Given the description of an element on the screen output the (x, y) to click on. 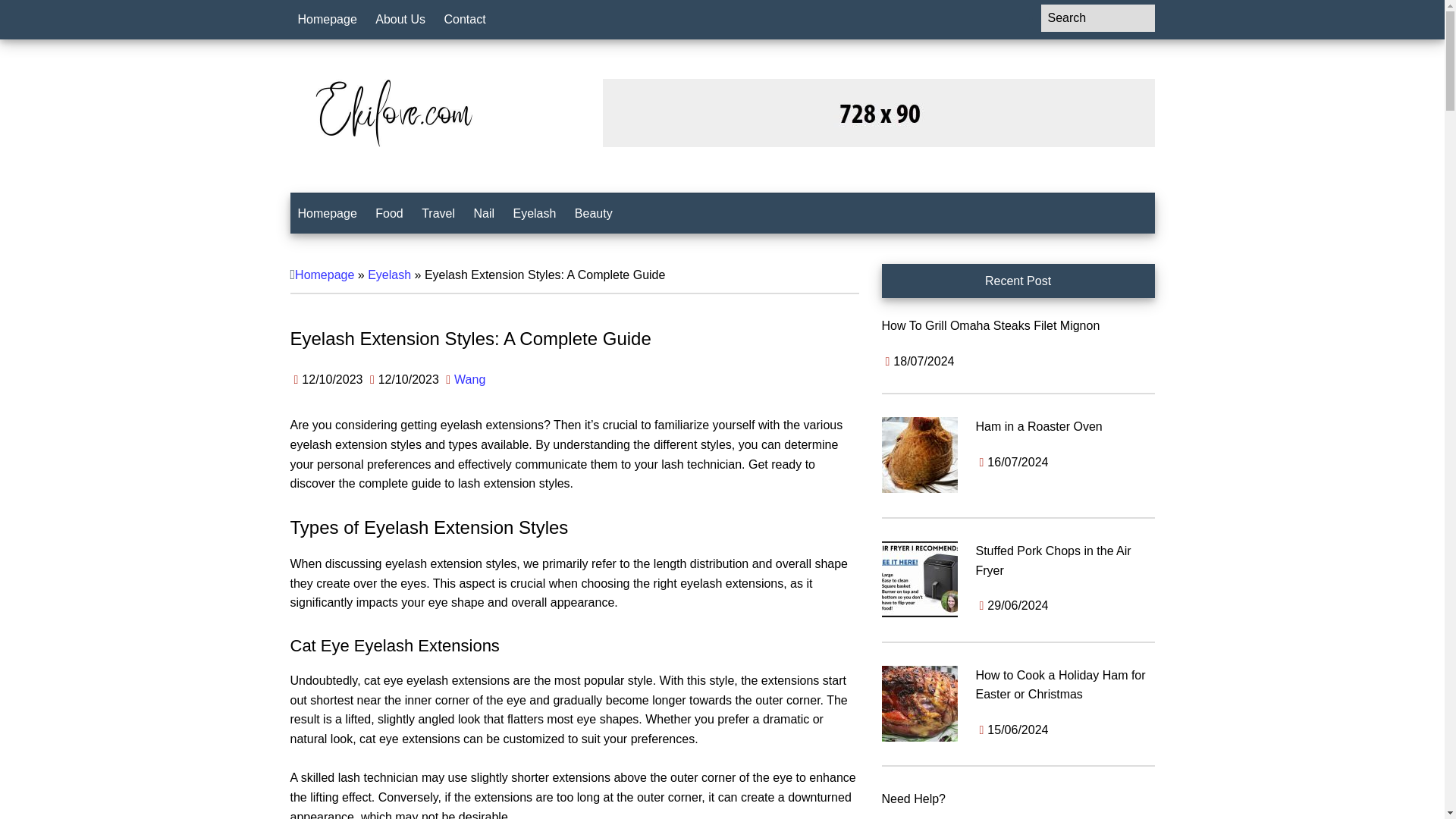
How To Grill Omaha Steaks Filet Mignon (989, 325)
Eyelash (389, 274)
Beauty (593, 213)
Nail (483, 213)
Homepage (324, 274)
Homepage (326, 213)
Ham in a Roaster Oven (1038, 426)
Ekilove (392, 112)
Eyelash (534, 213)
Wang (469, 379)
